Given the description of an element on the screen output the (x, y) to click on. 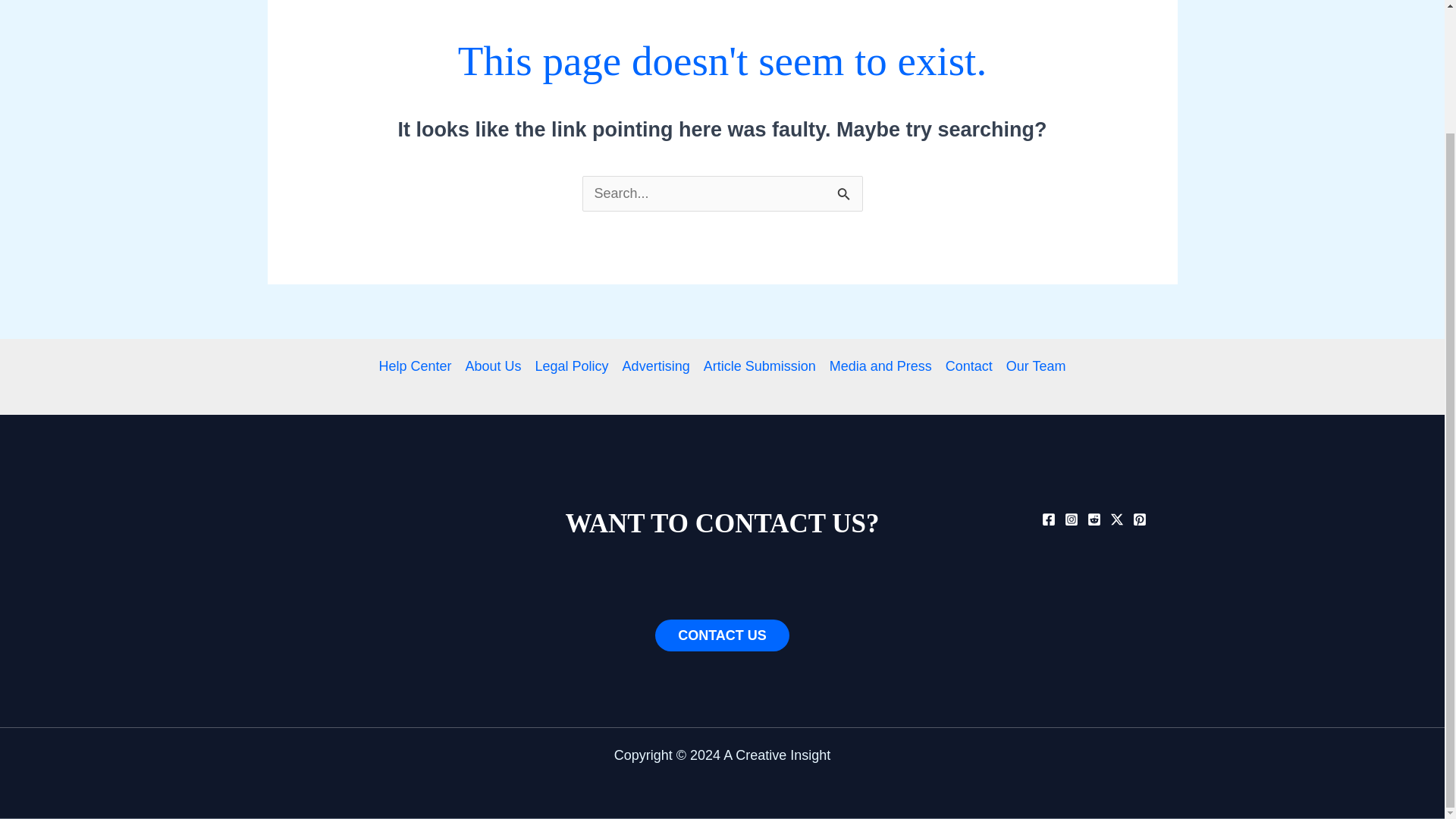
Help Center (418, 366)
Article Submission (759, 366)
Our Team (1031, 366)
Search (844, 192)
Search (844, 192)
Contact (968, 366)
Legal Policy (571, 366)
About Us (492, 366)
Search (844, 192)
Media and Press (880, 366)
